Given the description of an element on the screen output the (x, y) to click on. 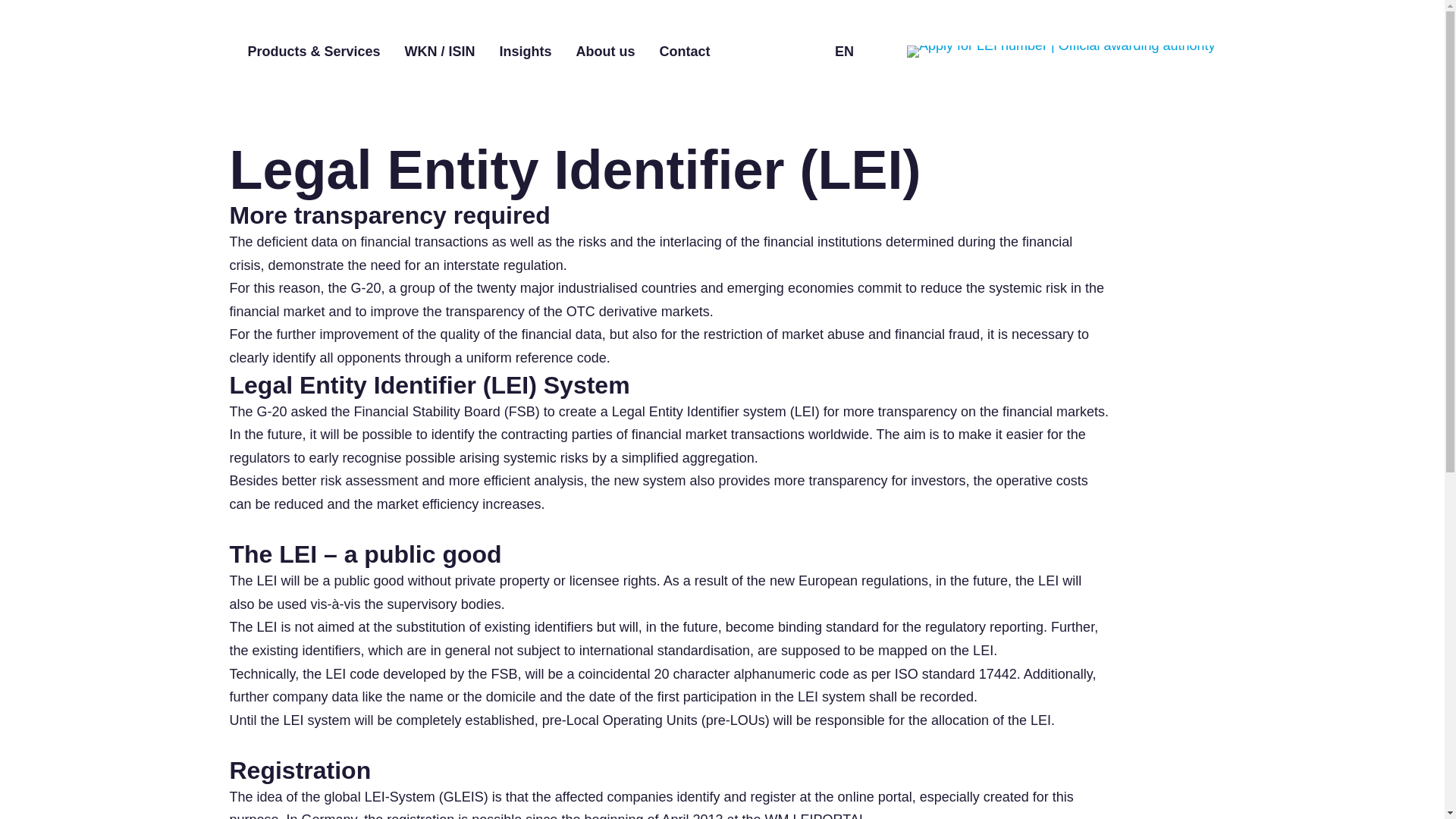
Insights (525, 51)
Contact (684, 51)
About us (605, 51)
the WM LEIPORTAL (804, 815)
